Given the description of an element on the screen output the (x, y) to click on. 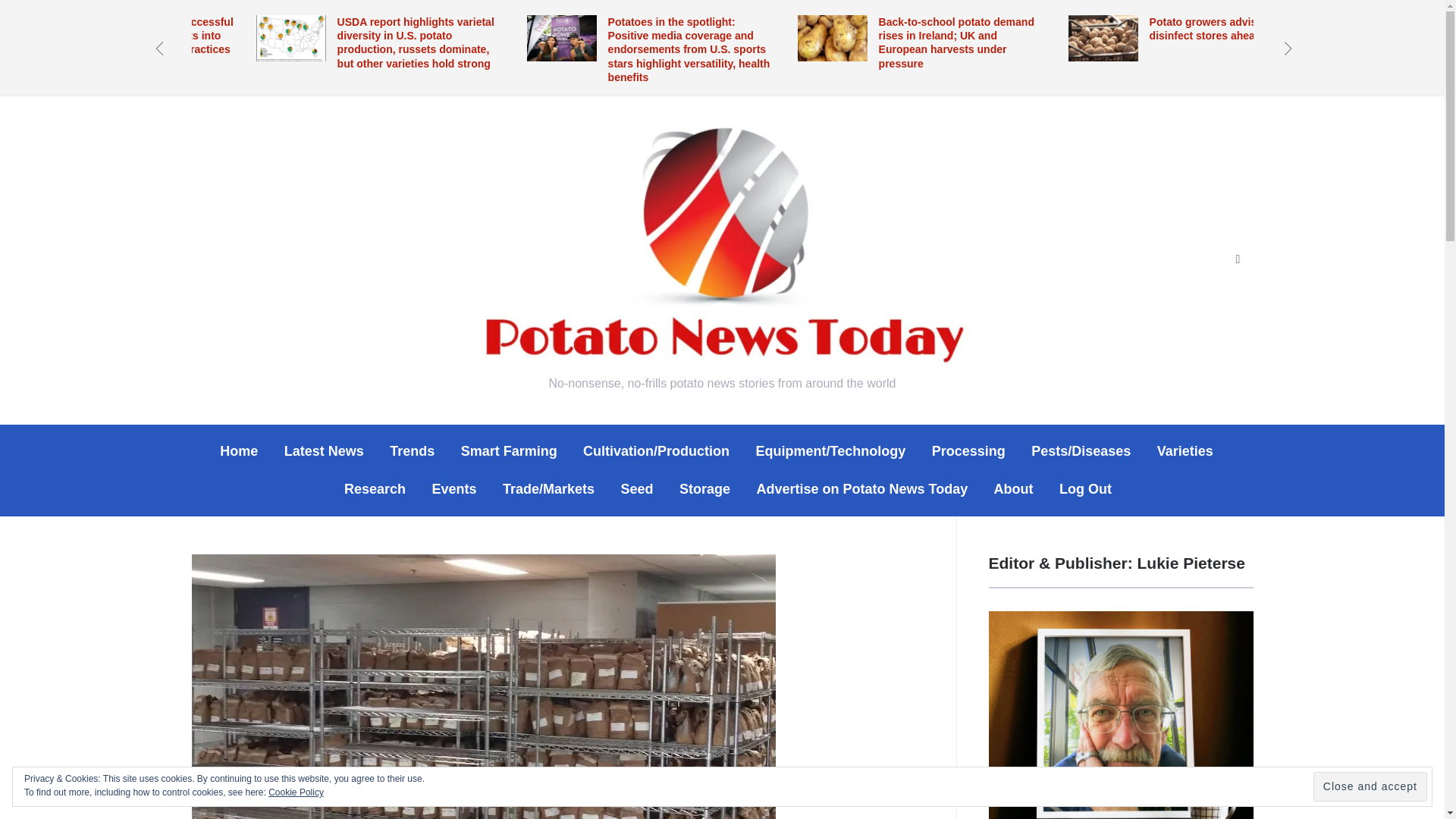
Close and accept (1369, 786)
Potato growers advised to disinfect stores ahead of harvest (1233, 28)
Potato growers advised to disinfect stores ahead of harvest (1102, 24)
Potato growers advised to disinfect stores ahead of harvest (1233, 28)
Search (1237, 259)
